Given the description of an element on the screen output the (x, y) to click on. 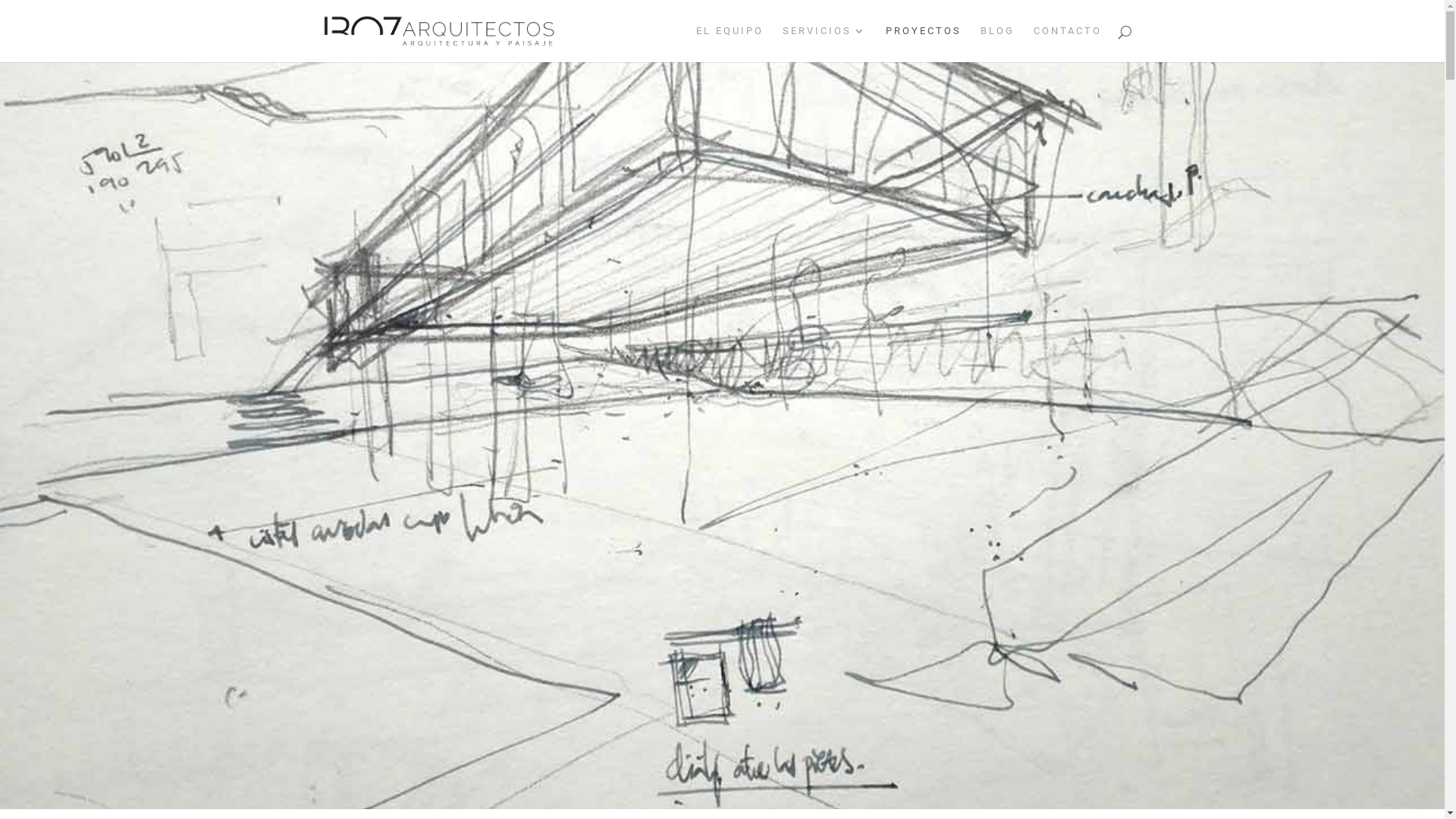
CONTACTO Element type: text (1066, 43)
BLOG Element type: text (996, 43)
PROYECTOS Element type: text (923, 43)
EL EQUIPO Element type: text (729, 43)
SERVICIOS Element type: text (824, 43)
